Given the description of an element on the screen output the (x, y) to click on. 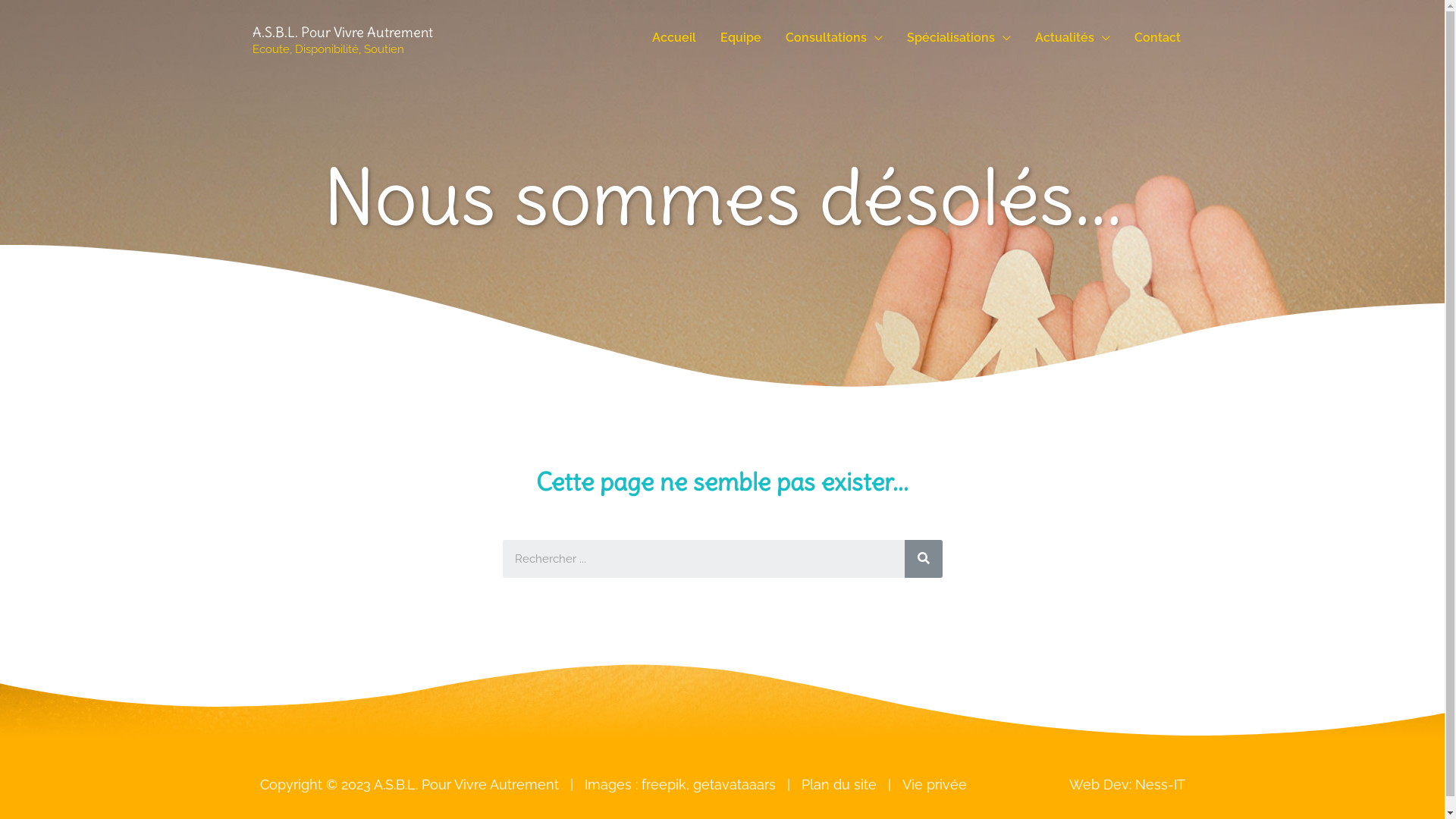
freepik Element type: text (663, 784)
Plan du site Element type: text (837, 784)
Equipe Element type: text (740, 37)
A.S.B.L. Pour Vivre Autrement Element type: text (341, 31)
Contact Element type: text (1157, 37)
Ness-IT Element type: text (1159, 784)
Accueil Element type: text (674, 37)
Rechercher  Element type: hover (702, 558)
Rechercher  Element type: hover (922, 558)
getavataaars Element type: text (734, 784)
Consultations Element type: text (833, 37)
